Given the description of an element on the screen output the (x, y) to click on. 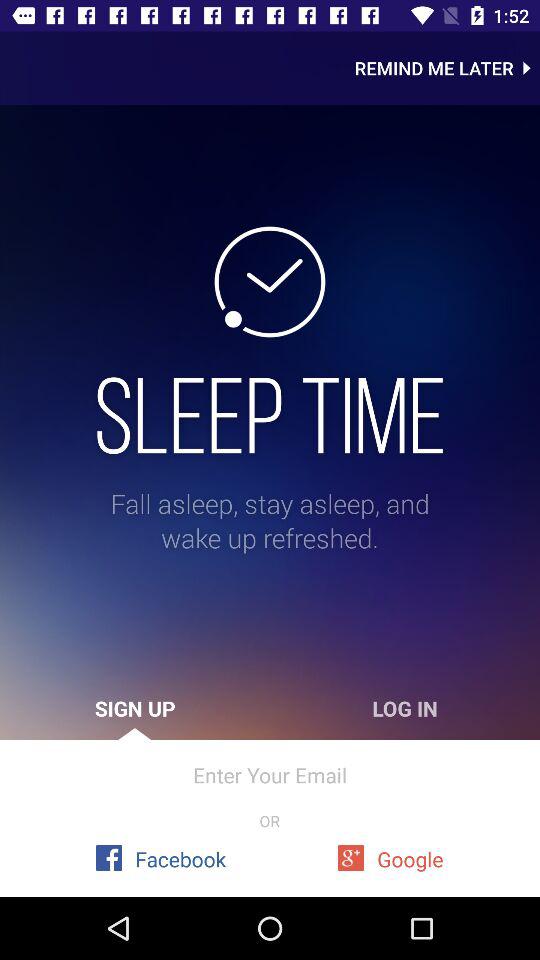
open item next to the log in (135, 707)
